Given the description of an element on the screen output the (x, y) to click on. 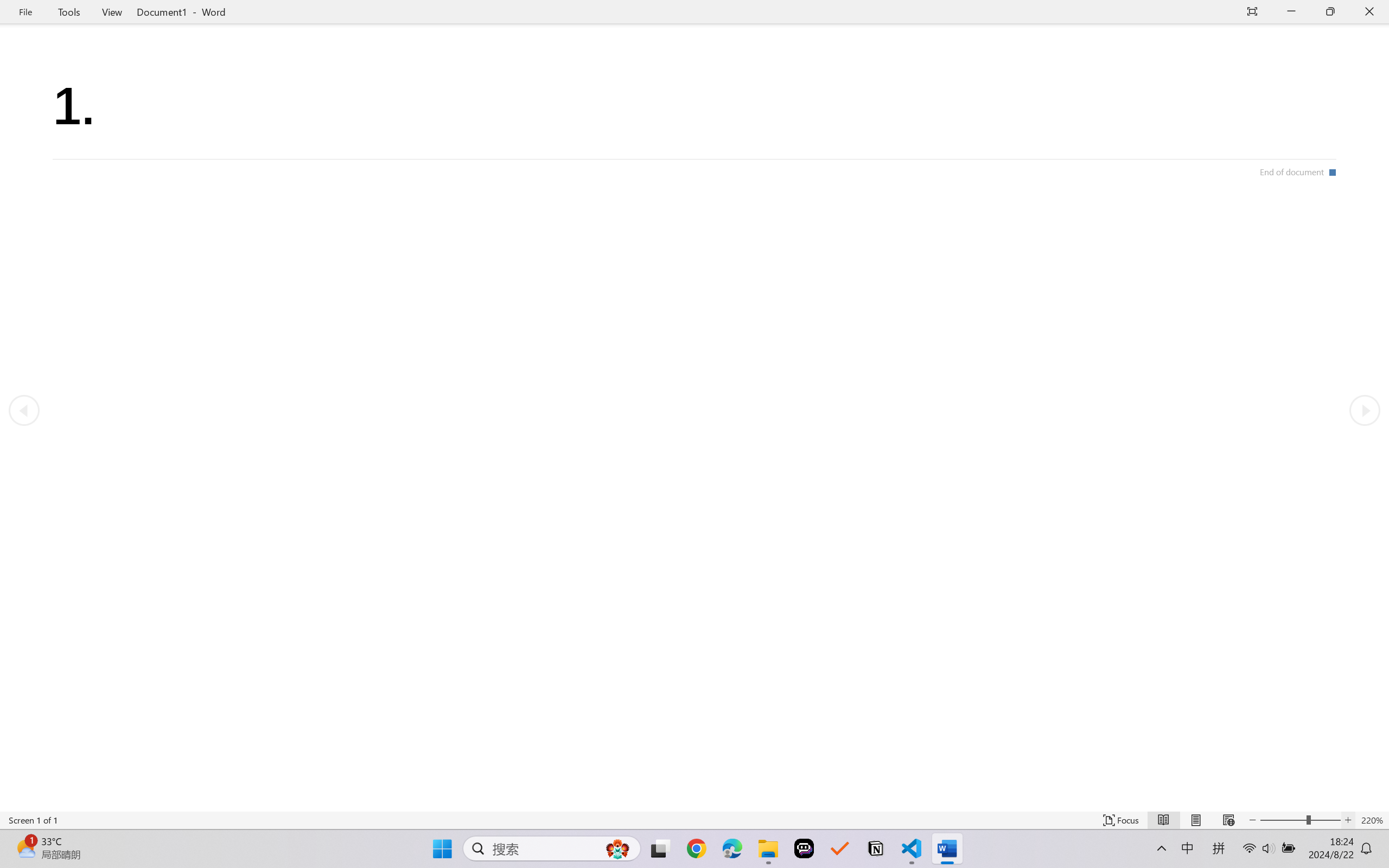
Text Size (1300, 819)
Increase Text Size (1348, 819)
Tools (69, 11)
Decrease Text Size (1252, 819)
